Given the description of an element on the screen output the (x, y) to click on. 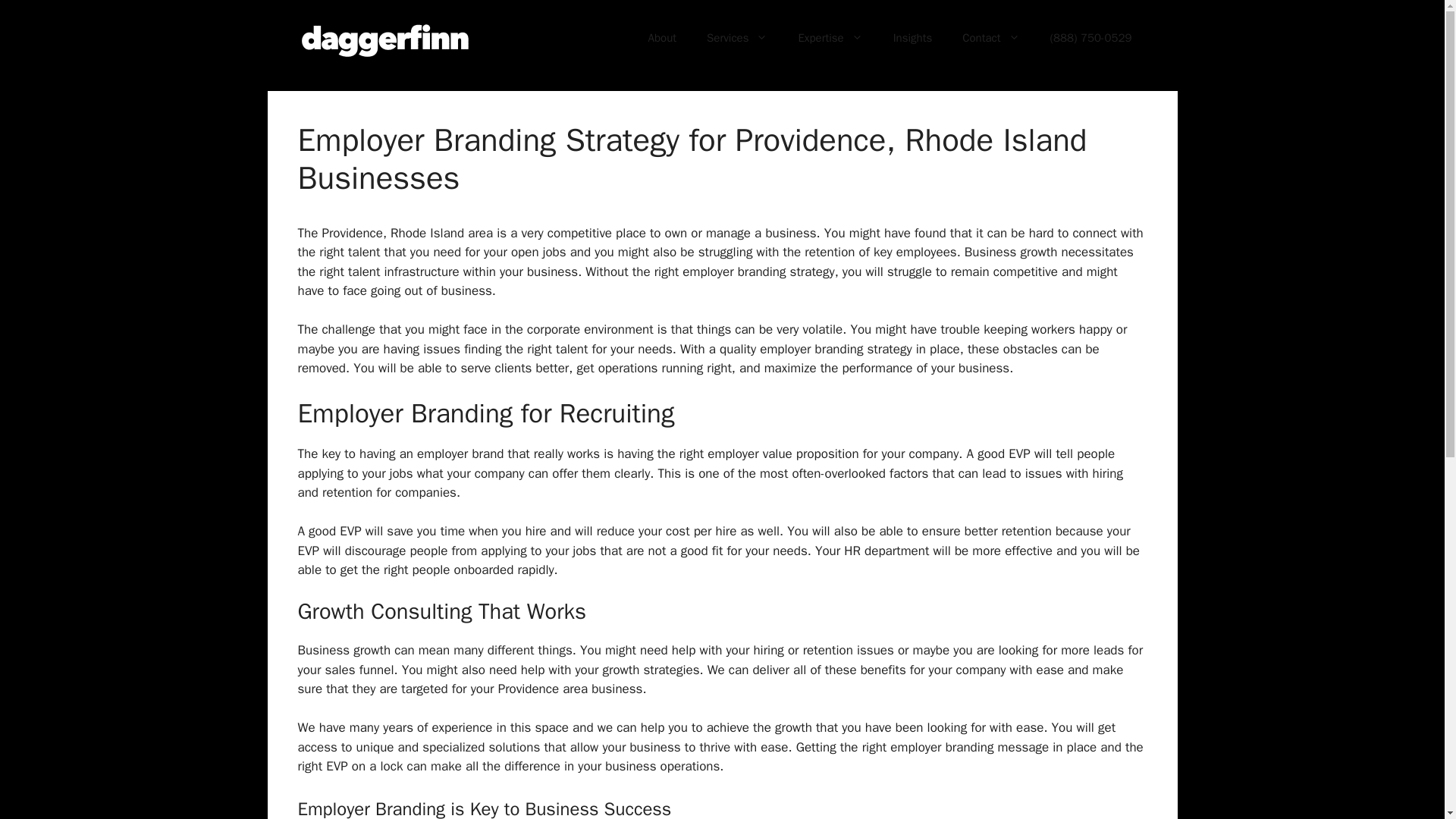
Expertise (830, 37)
Services (737, 37)
About (662, 37)
